Given the description of an element on the screen output the (x, y) to click on. 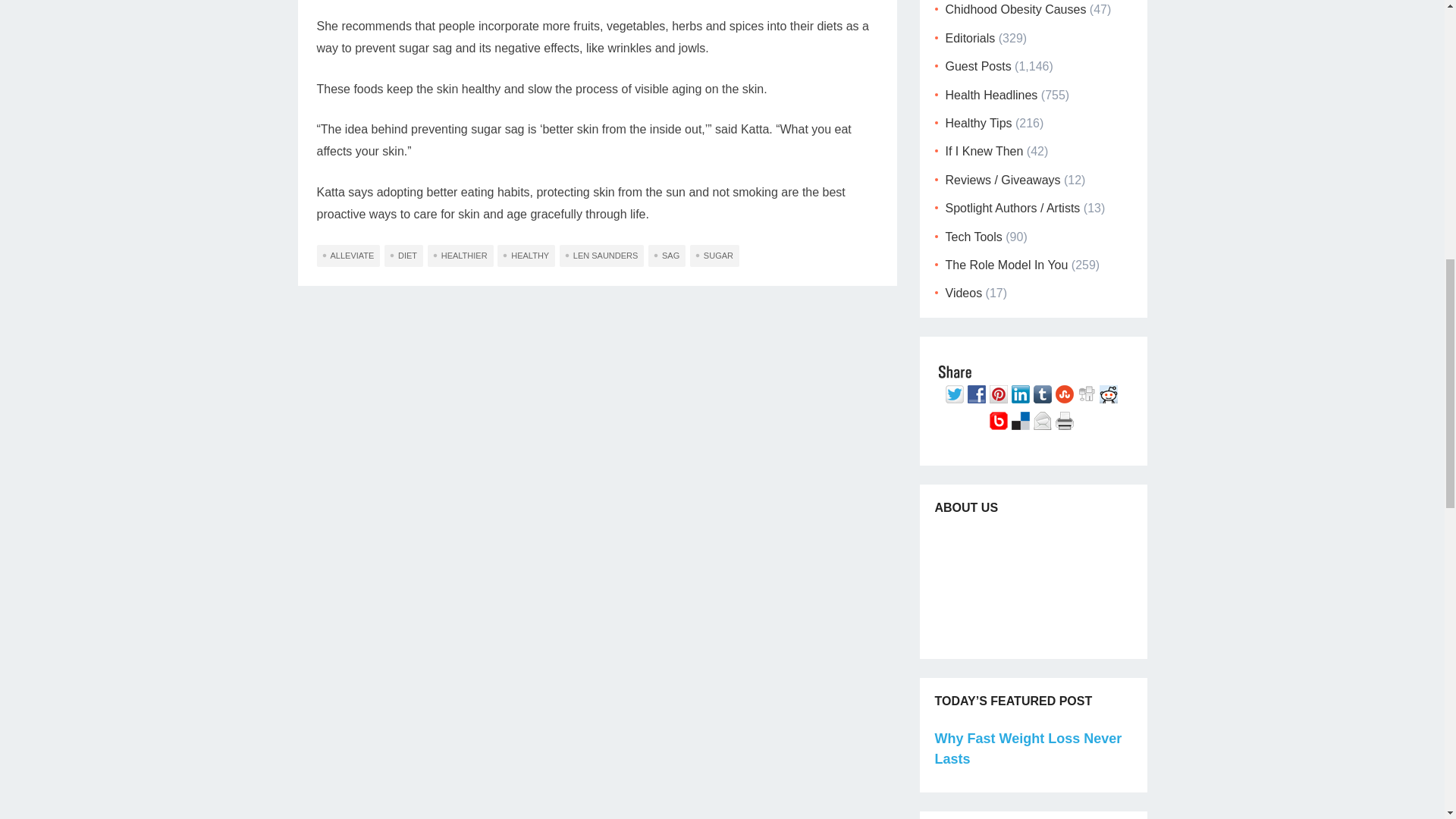
HEALTHY (525, 255)
HEALTHIER (460, 255)
SUGAR (714, 255)
DIET (403, 255)
ALLEVIATE (348, 255)
SAG (666, 255)
LEN SAUNDERS (602, 255)
